Given the description of an element on the screen output the (x, y) to click on. 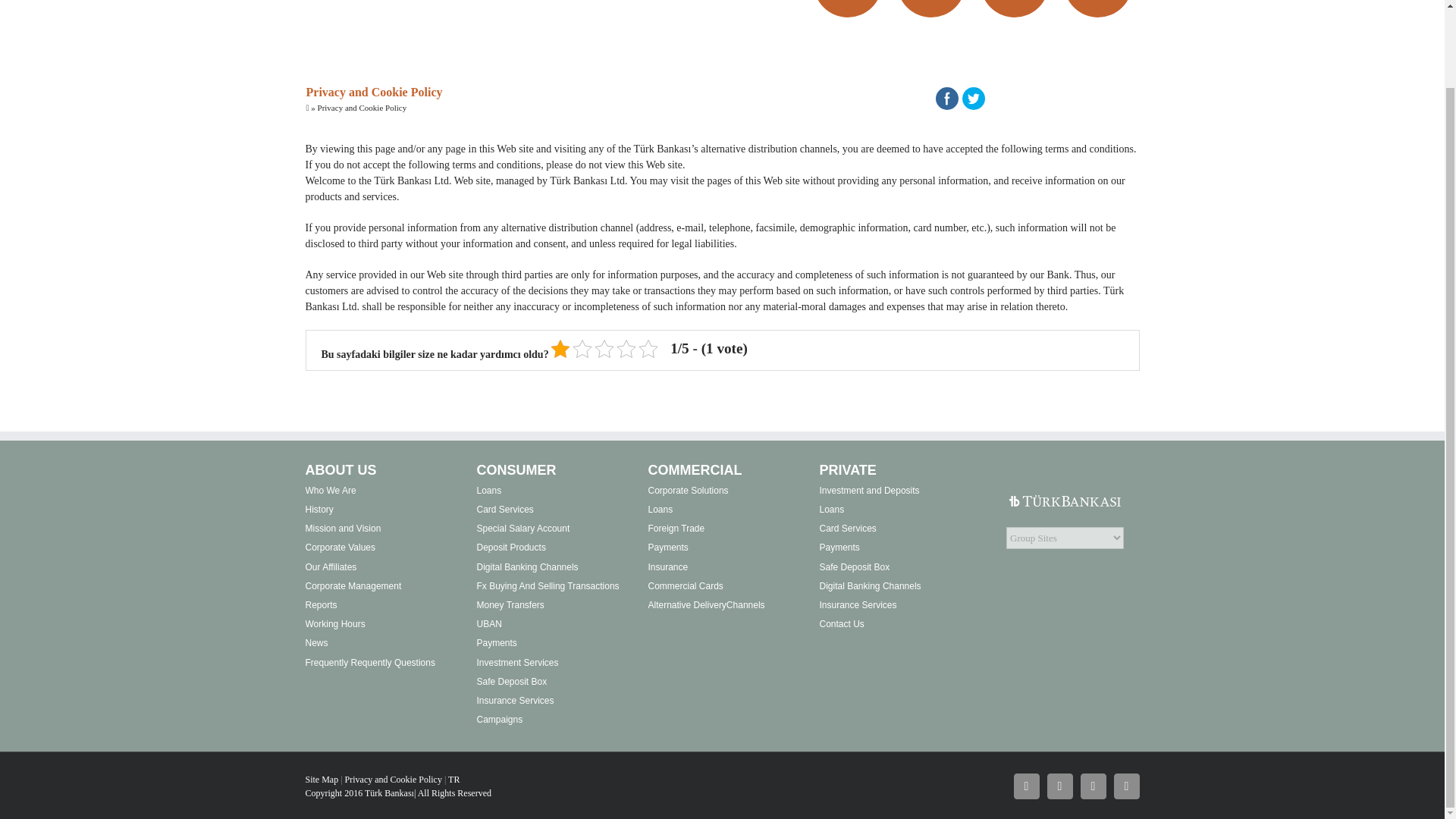
About Us (846, 6)
Consumer (930, 6)
Commercial (1014, 6)
